Given the description of an element on the screen output the (x, y) to click on. 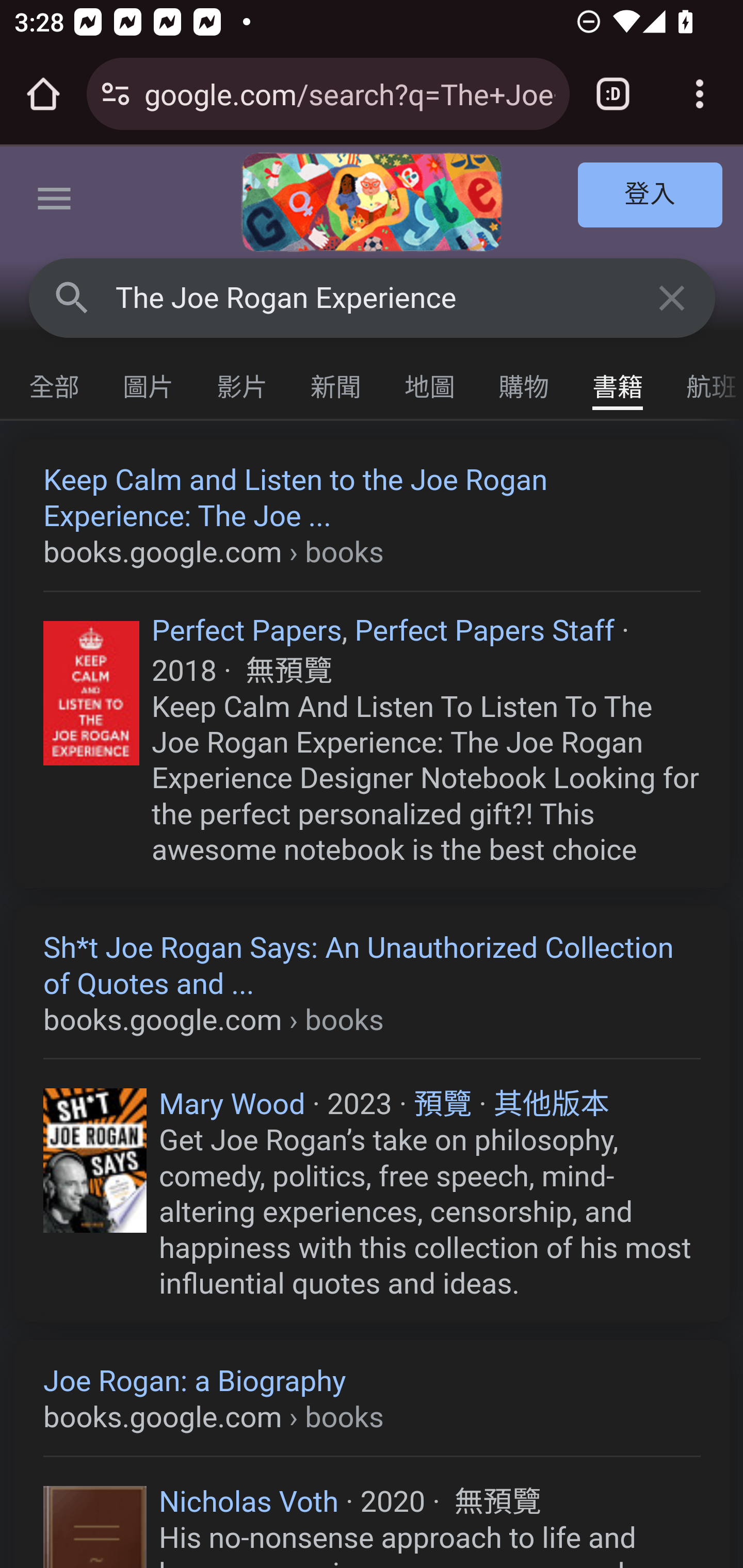
Open the home page (43, 93)
Connection is secure (115, 93)
Switch or close tabs (612, 93)
Customize and control Google Chrome (699, 93)
主選單 (54, 202)
登入 (650, 195)
Google 搜尋 (71, 296)
清除搜尋內容 (672, 296)
The Joe Rogan Experience (372, 297)
全部 (54, 382)
圖片 (148, 382)
影片 (242, 382)
新聞 (336, 382)
地圖 (430, 382)
購物 (524, 382)
航班 (703, 382)
Perfect Papers (247, 629)
Perfect Papers Staff (484, 629)
Mary Wood (232, 1104)
預覽 (443, 1104)
其他版本 (551, 1104)
Joe Rogan: a Biography (372, 1399)
Nicholas Voth (249, 1501)
